Given the description of an element on the screen output the (x, y) to click on. 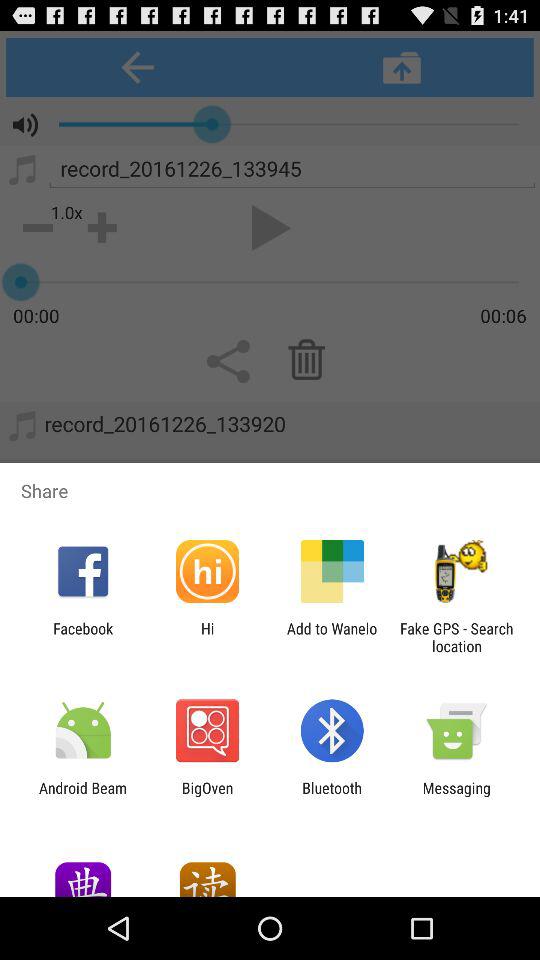
open the facebook item (83, 637)
